Given the description of an element on the screen output the (x, y) to click on. 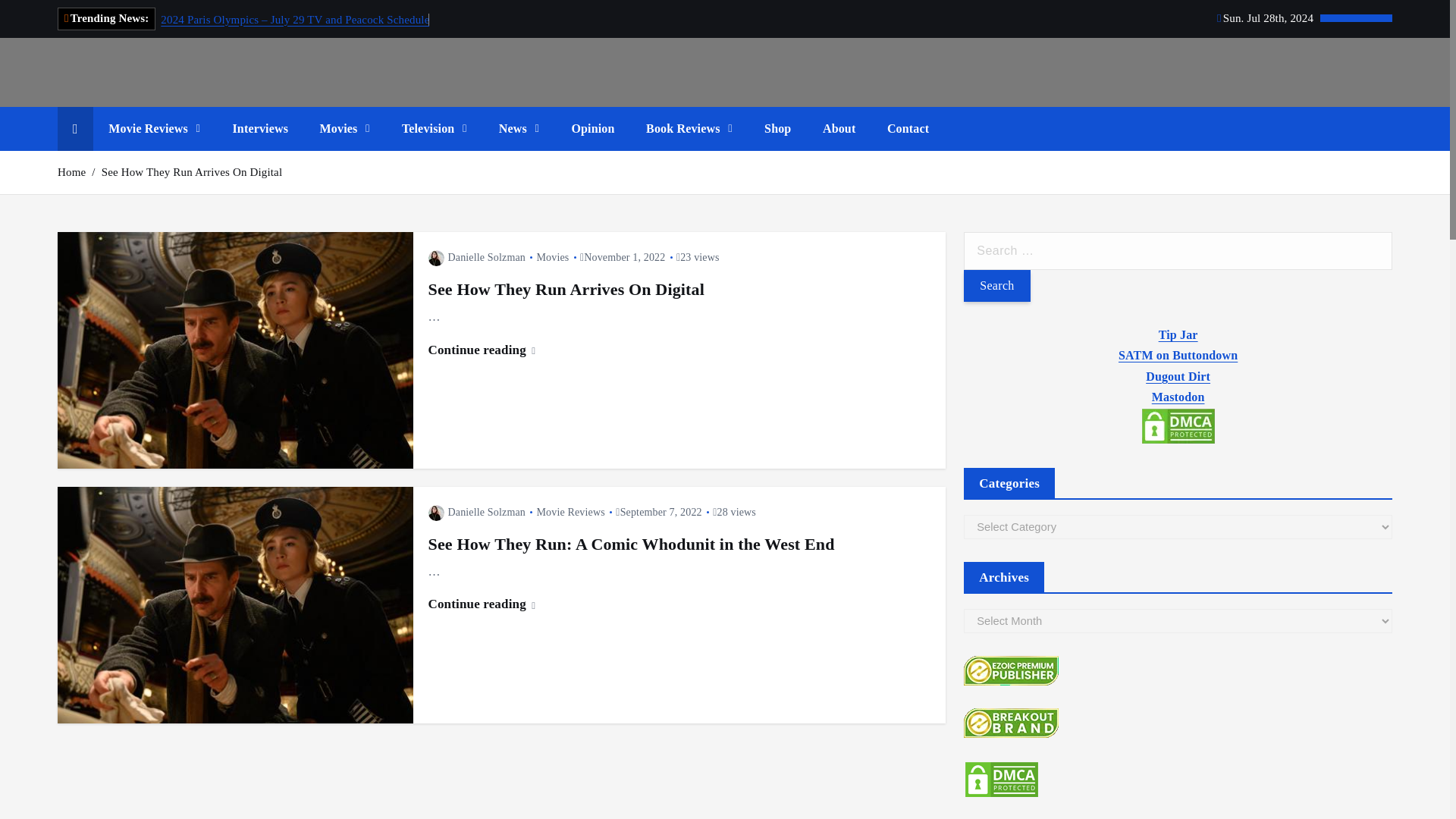
Interviews (259, 128)
Search (996, 286)
Movie Reviews (154, 128)
Search (996, 286)
Movies (344, 128)
